Given the description of an element on the screen output the (x, y) to click on. 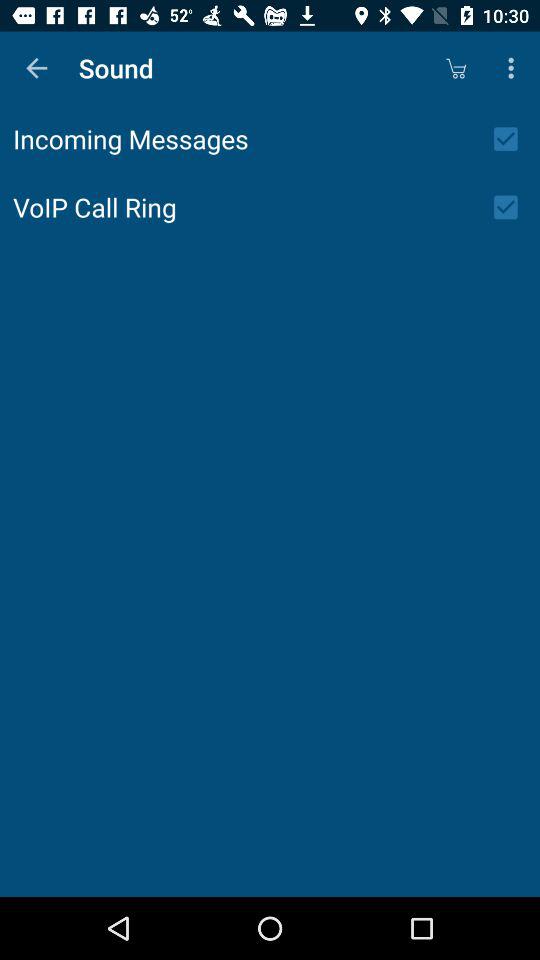
select item to the right of incoming messages icon (512, 139)
